Given the description of an element on the screen output the (x, y) to click on. 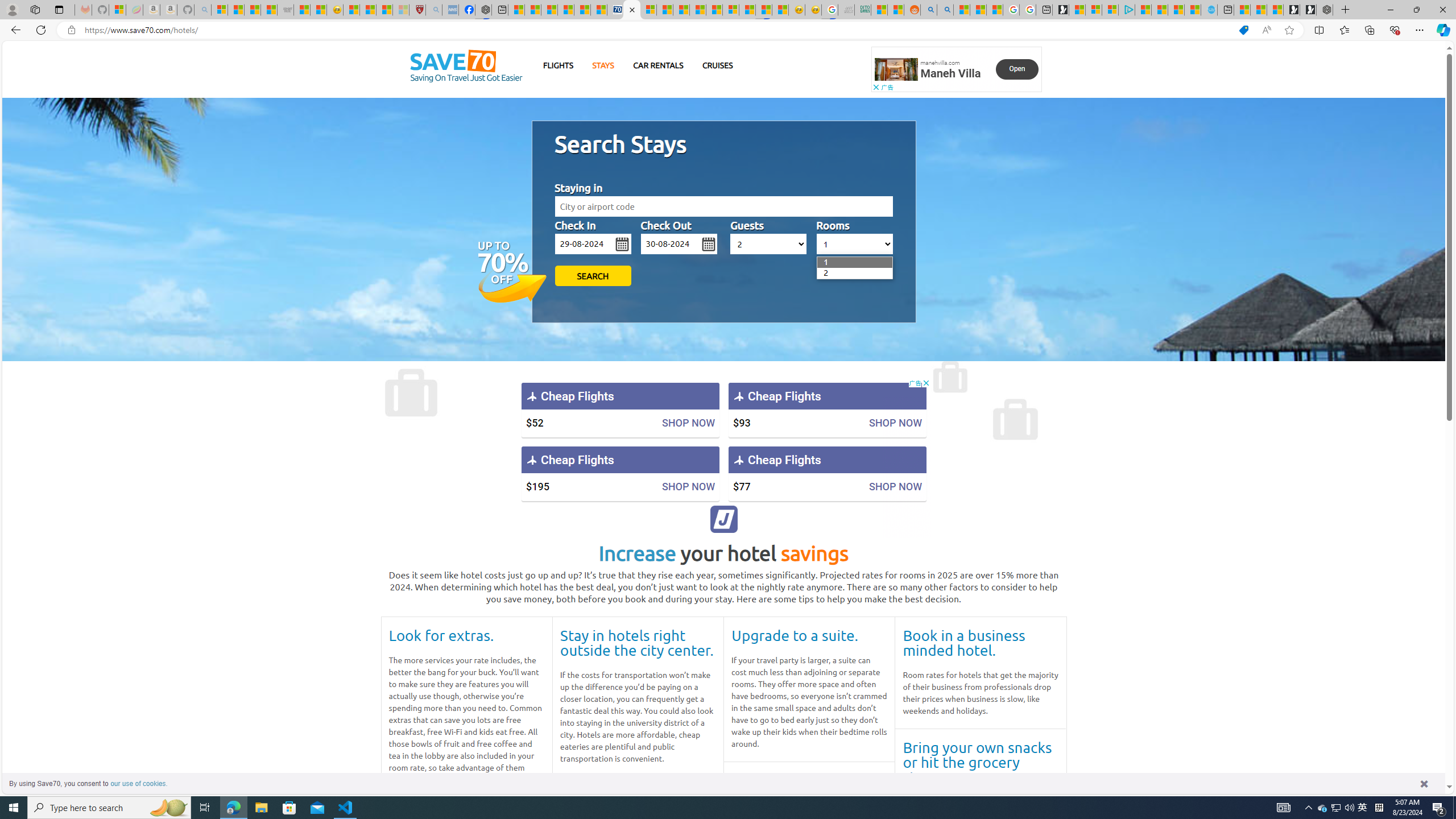
learn more about cookies (138, 783)
STAYS (603, 65)
Cheap Flights $52 SHOP NOW (620, 409)
FLIGHTS (558, 65)
